Given the description of an element on the screen output the (x, y) to click on. 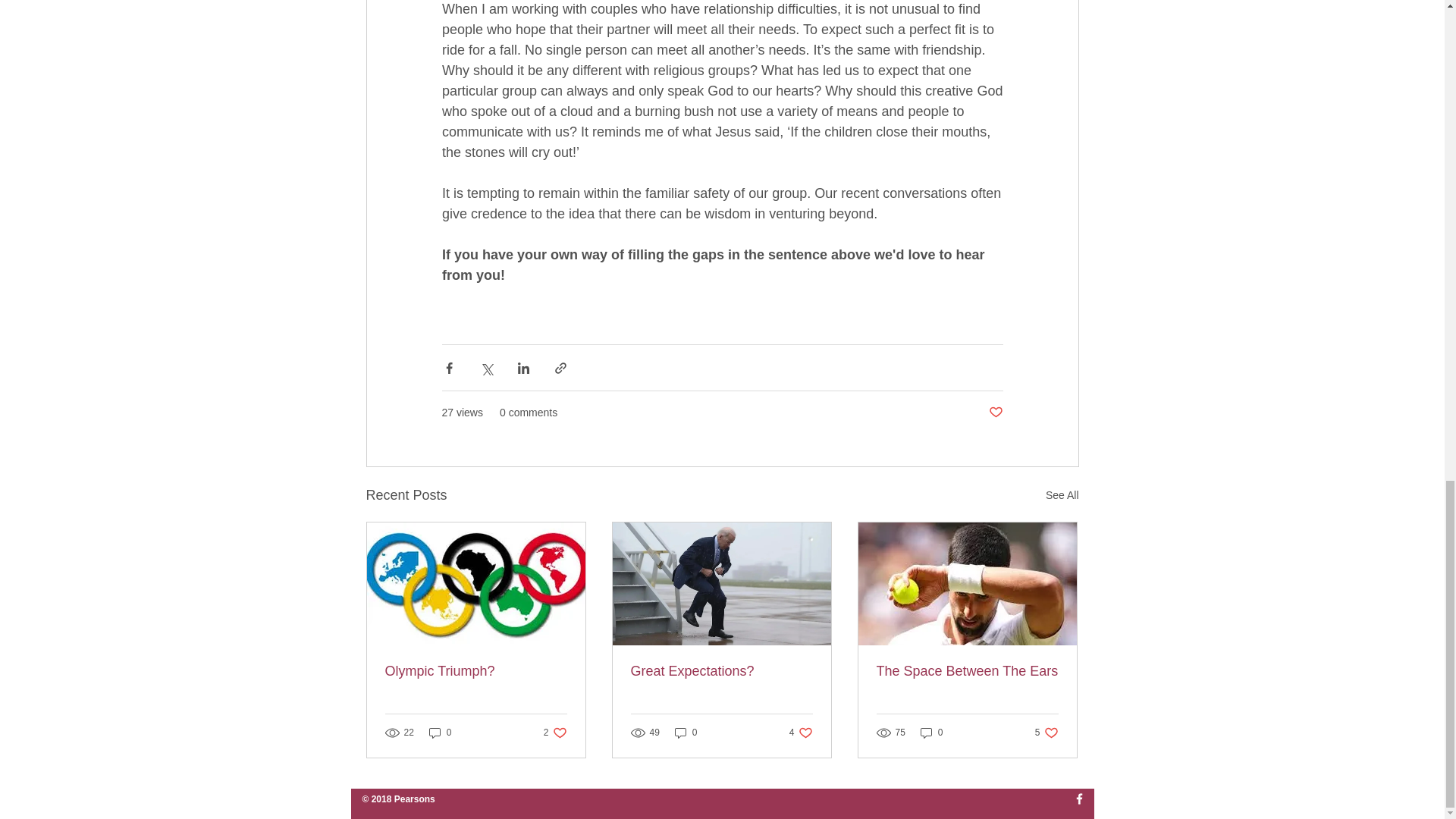
See All (1061, 495)
Post not marked as liked (995, 412)
Great Expectations? (721, 671)
0 (440, 732)
The Space Between The Ears (967, 671)
Olympic Triumph? (1046, 732)
0 (800, 732)
0 (476, 671)
